Given the description of an element on the screen output the (x, y) to click on. 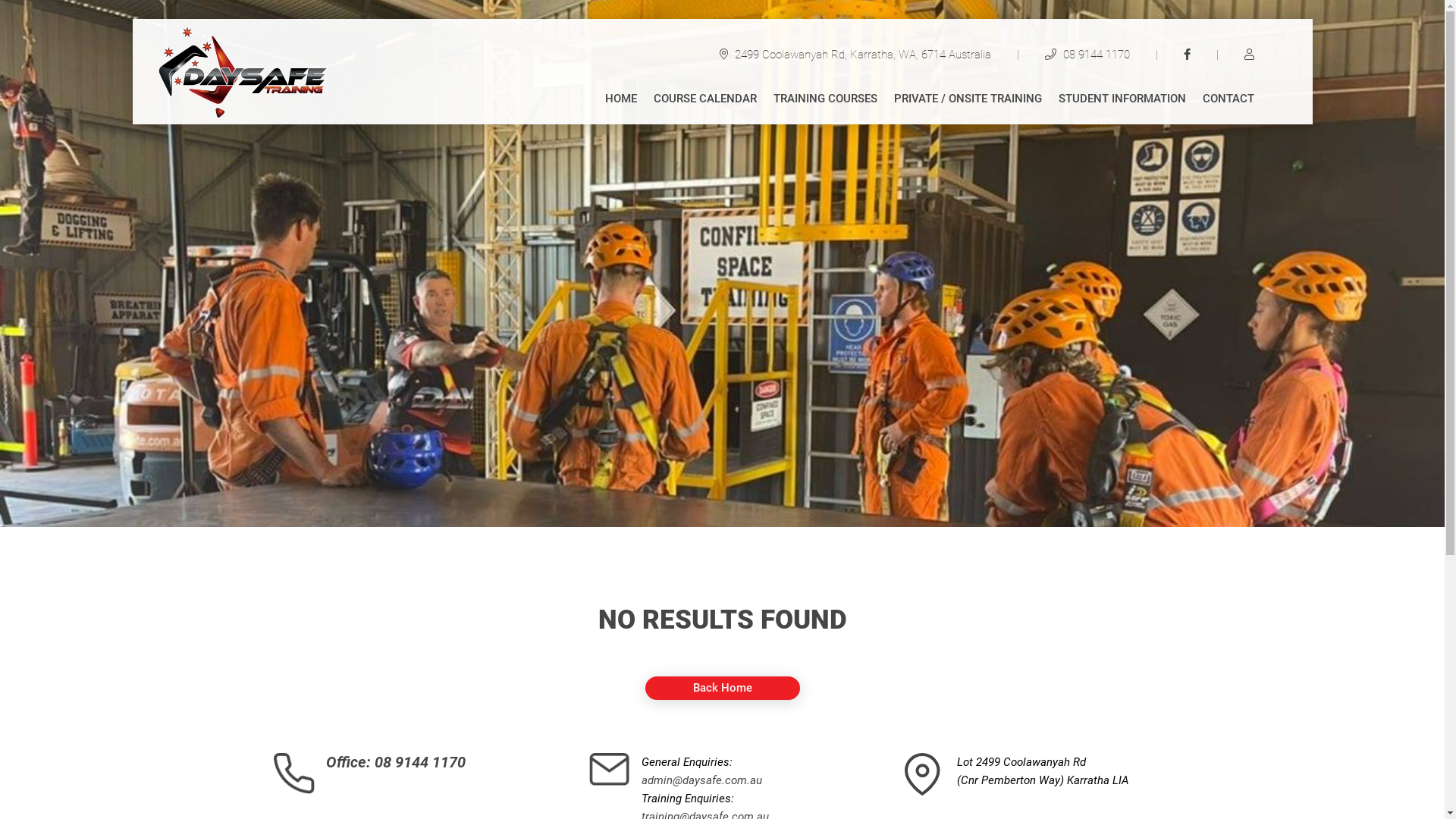
PRIVATE / ONSITE TRAINING Element type: text (967, 101)
Back Home Element type: text (721, 688)
COURSE CALENDAR Element type: text (704, 101)
TRAINING COURSES Element type: text (825, 101)
STUDENT INFORMATION Element type: text (1122, 101)
course-calendar-banner Element type: hover (722, 263)
Artboard 3 Element type: hover (244, 71)
HOME Element type: text (621, 101)
08 9144 1170 Element type: text (1088, 54)
2499 Coolawanyah Rd, Karratha, WA, 6714 Australia Element type: text (865, 54)
admin@daysafe.com.au Element type: text (701, 780)
CONTACT Element type: text (1228, 101)
